Given the description of an element on the screen output the (x, y) to click on. 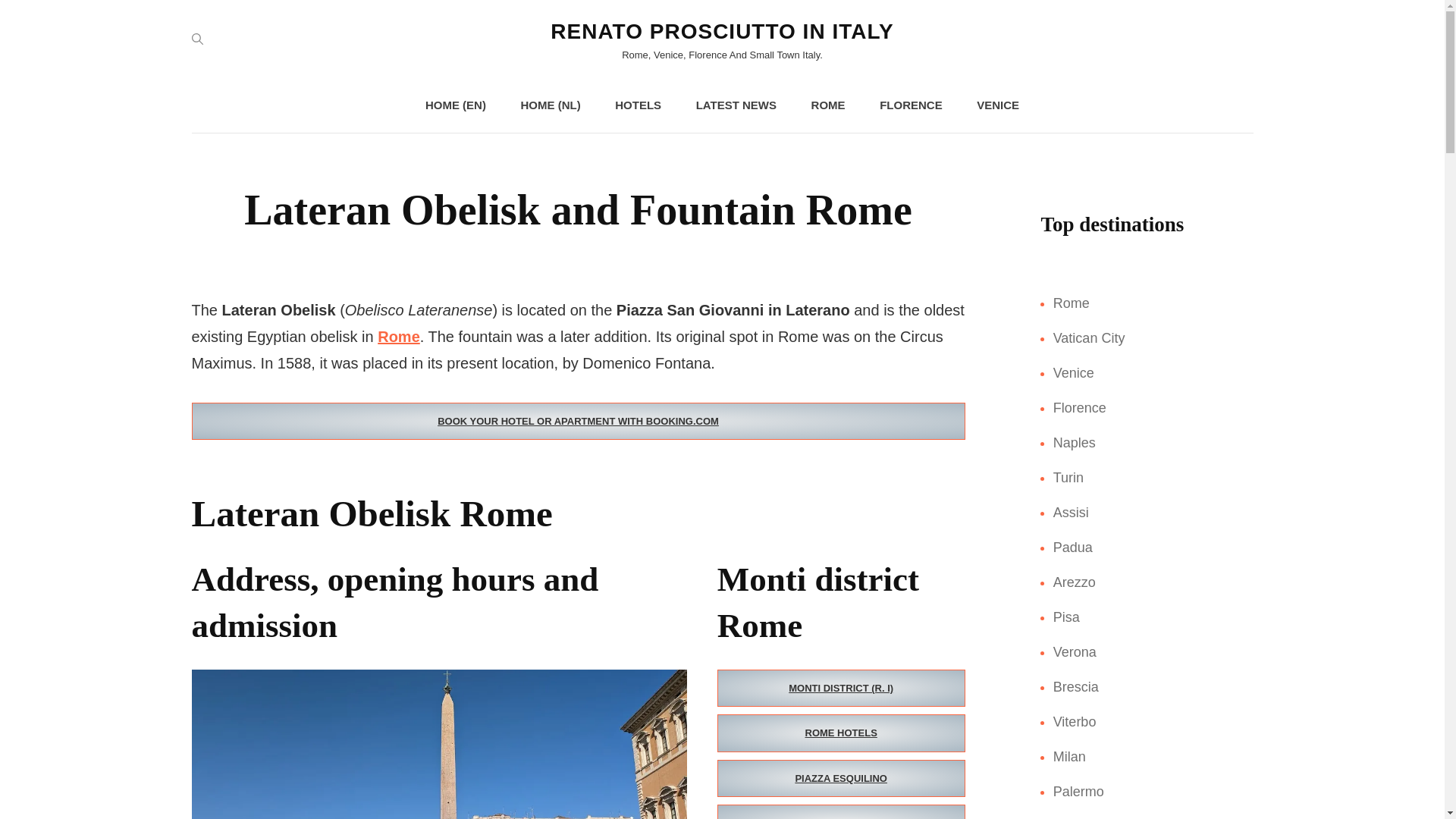
VENICE (996, 104)
VIA URBANA (841, 811)
ROME HOTELS (841, 733)
FLORENCE (911, 104)
HOTELS (638, 104)
ROME (828, 104)
BOOK YOUR HOTEL OR APARTMENT WITH BOOKING.COM (576, 421)
RENATO PROSCIUTTO IN ITALY (721, 31)
PIAZZA ESQUILINO (841, 778)
Rome (398, 336)
LATEST NEWS (736, 104)
